Given the description of an element on the screen output the (x, y) to click on. 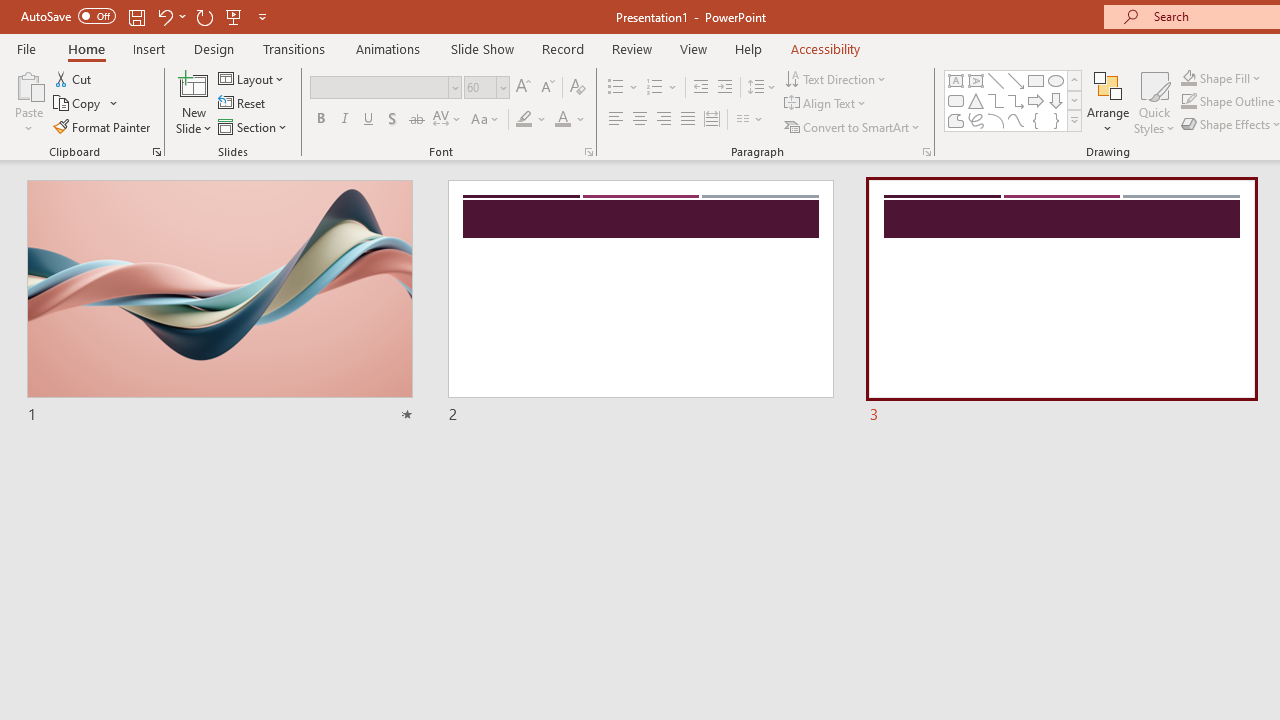
Shape Outline Blue, Accent 1 (1188, 101)
